Given the description of an element on the screen output the (x, y) to click on. 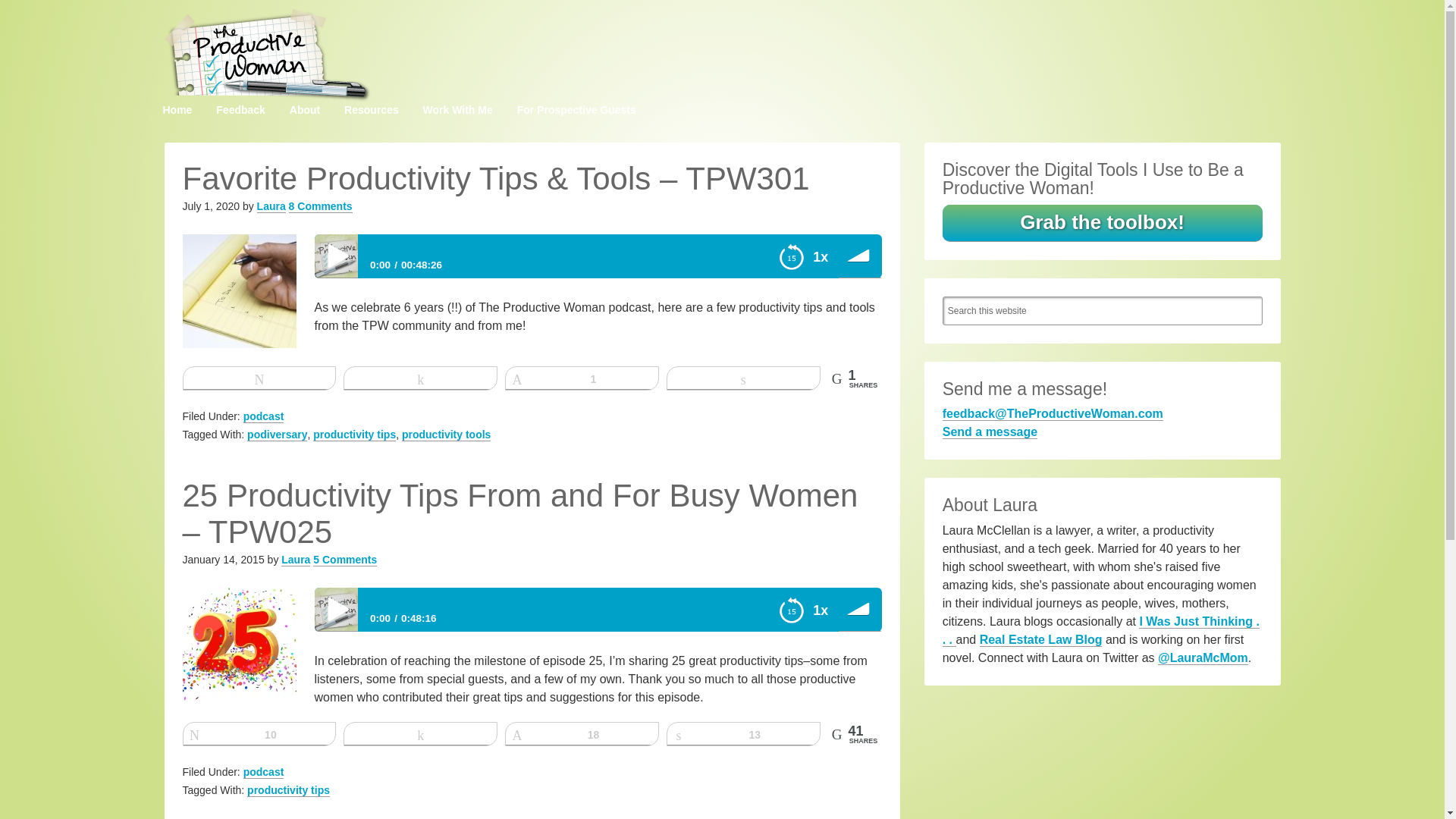
18 (581, 733)
5 Comments (345, 559)
Laura (295, 559)
podcast (263, 416)
13 (742, 733)
Laura (271, 205)
Work With Me (457, 109)
1 (581, 377)
The Productive Woman (267, 55)
